Given the description of an element on the screen output the (x, y) to click on. 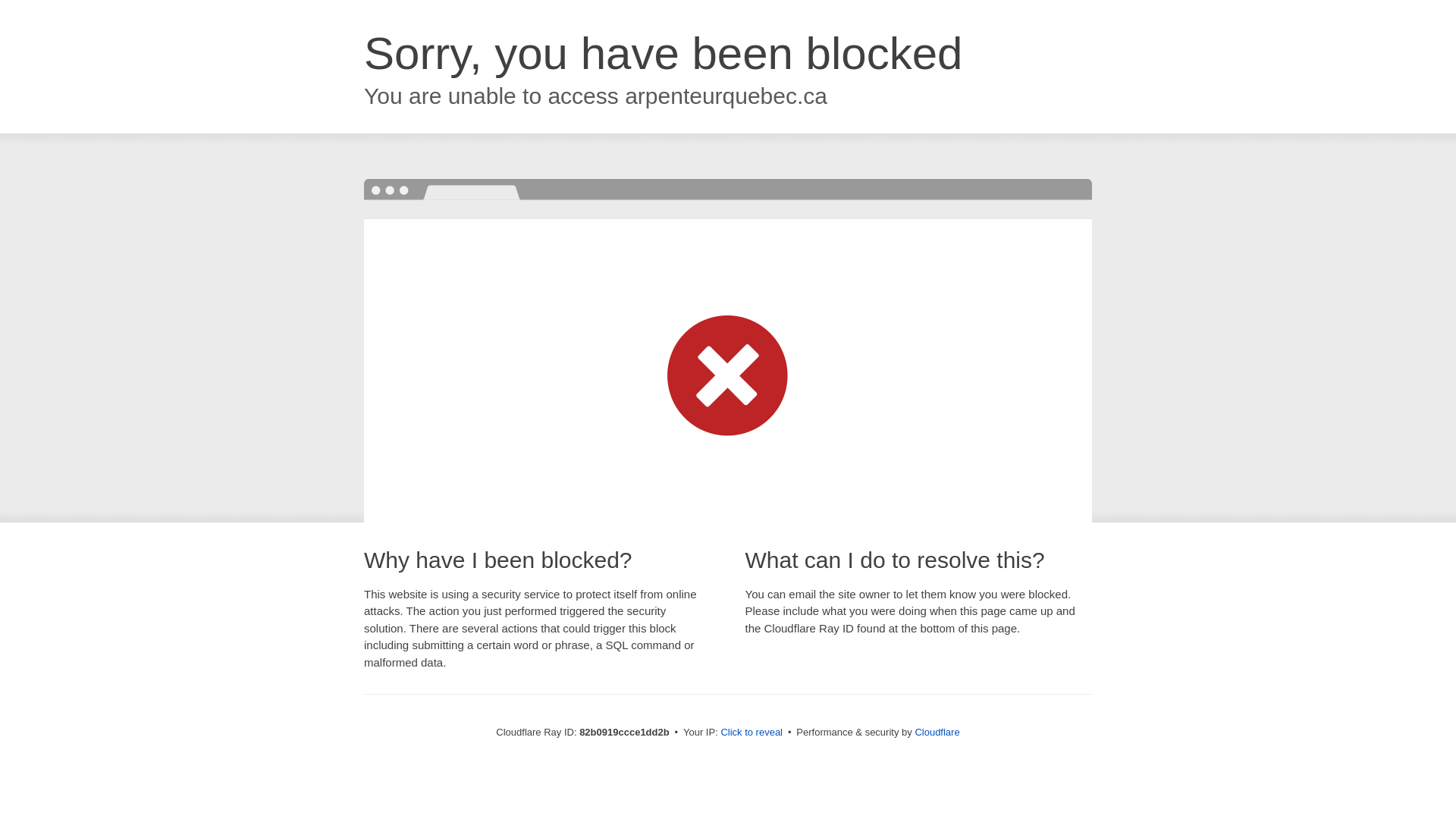
Cloudflare Element type: text (936, 731)
Click to reveal Element type: text (751, 732)
